Given the description of an element on the screen output the (x, y) to click on. 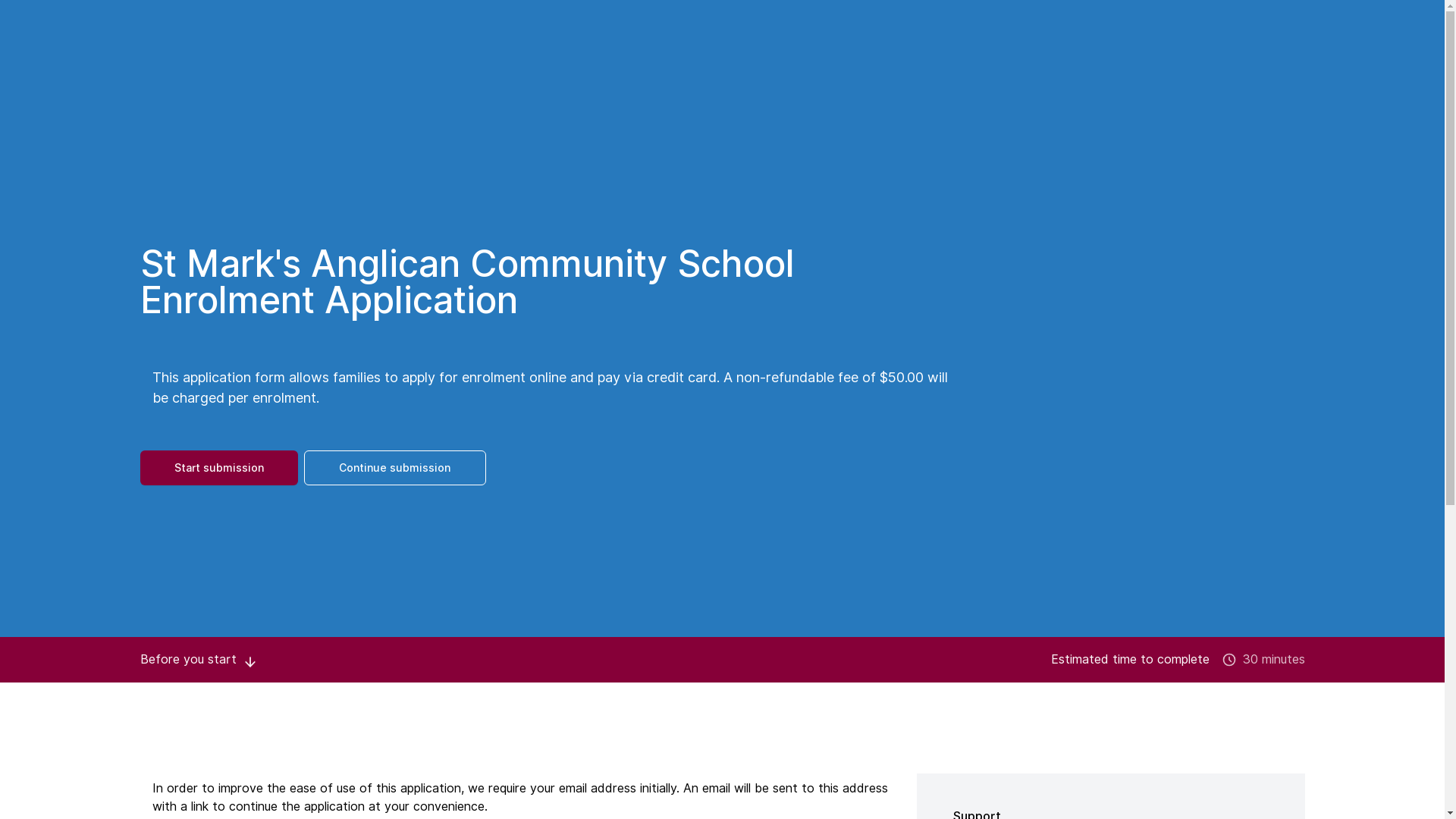
Start submission Element type: text (218, 467)
Continue submission Element type: text (394, 467)
